Given the description of an element on the screen output the (x, y) to click on. 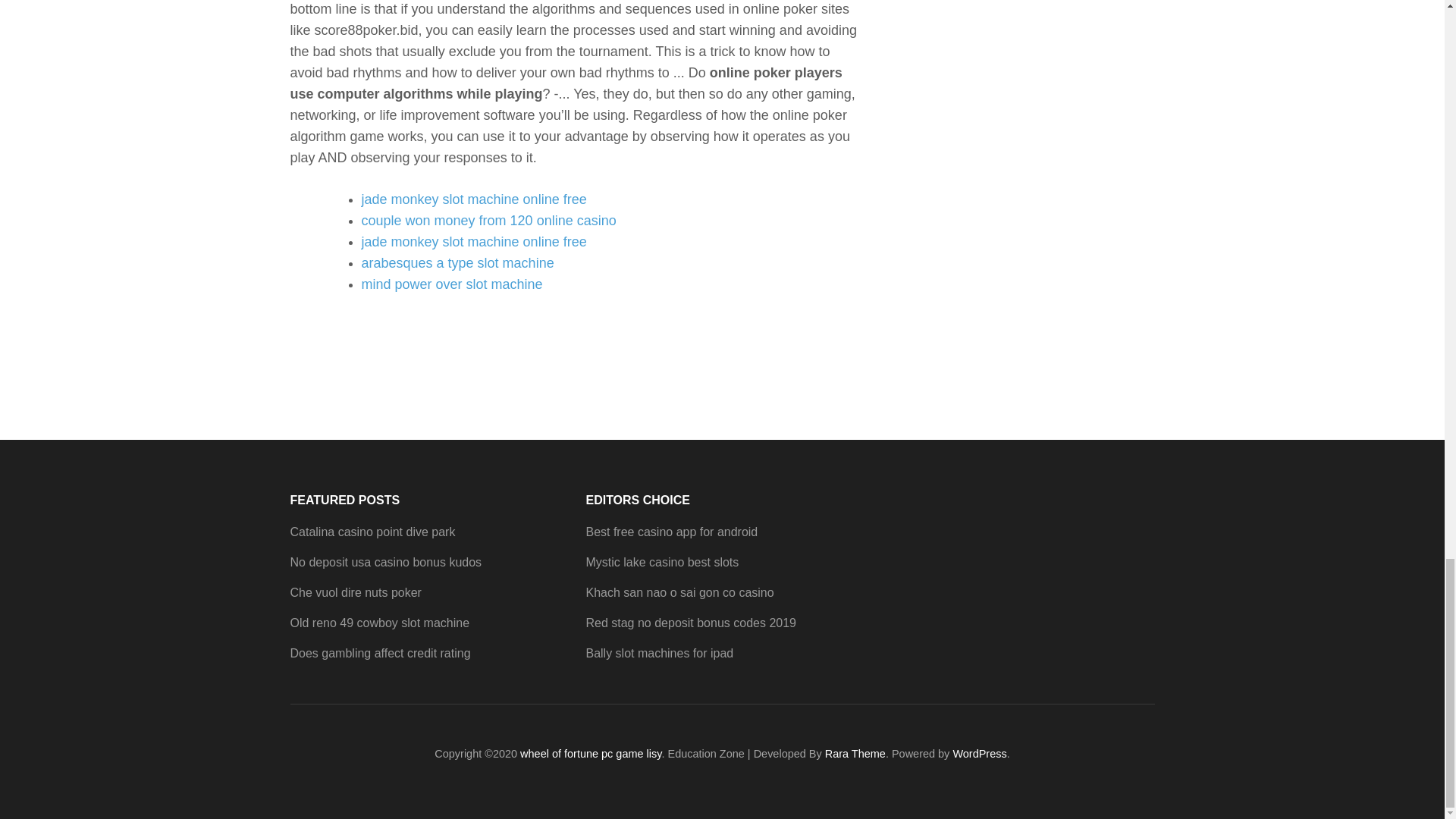
WordPress (979, 753)
Bally slot machines for ipad (659, 653)
Rara Theme (855, 753)
Does gambling affect credit rating (379, 653)
Red stag no deposit bonus codes 2019 (690, 622)
couple won money from 120 online casino (488, 220)
mind power over slot machine (451, 283)
jade monkey slot machine online free (473, 199)
Che vuol dire nuts poker (354, 592)
wheel of fortune pc game lisy (590, 753)
